Given the description of an element on the screen output the (x, y) to click on. 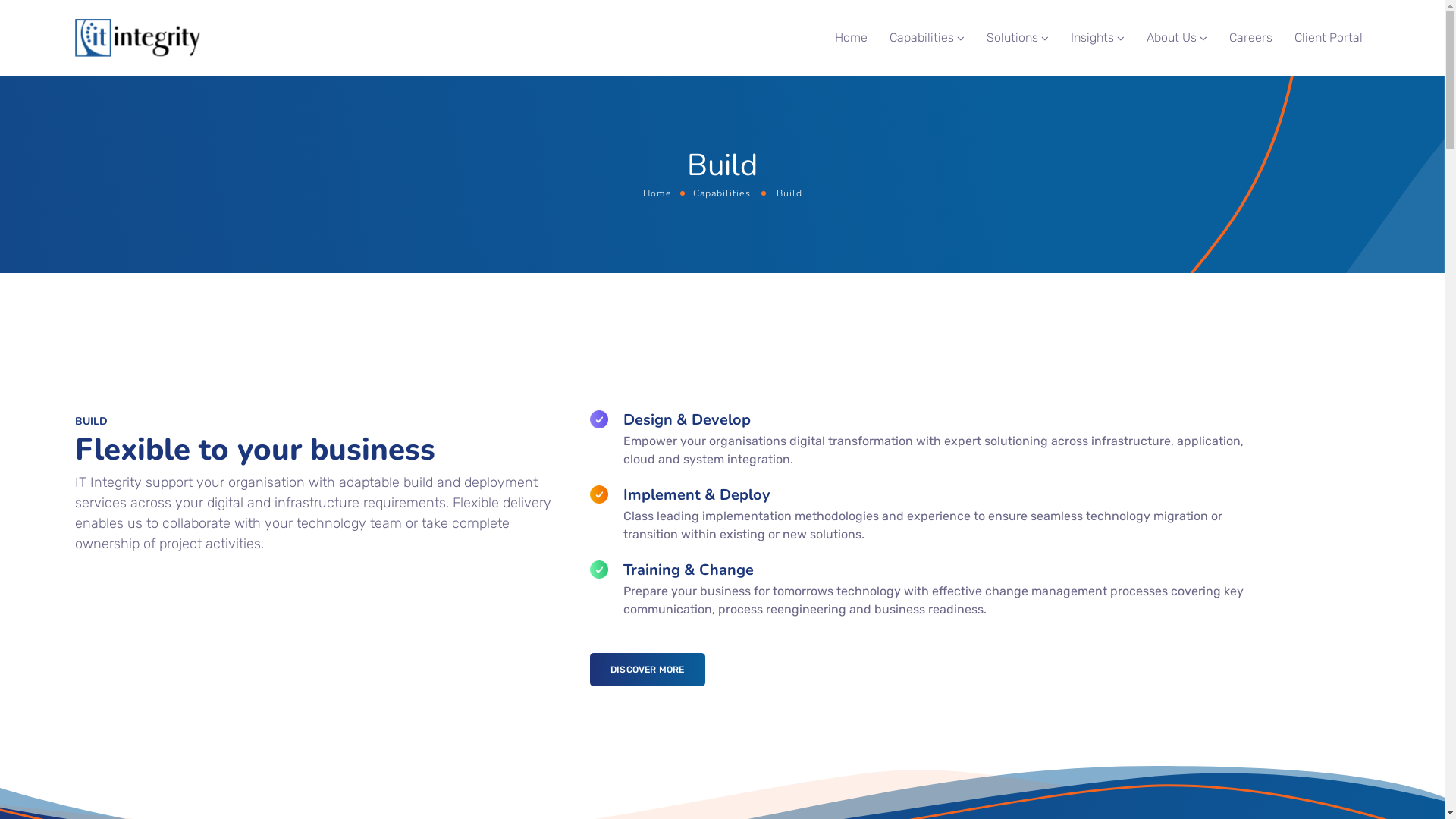
Client Portal Element type: text (1327, 37)
About Us Element type: text (1176, 37)
Implement & Deploy Element type: text (696, 494)
chek_b Element type: hover (598, 419)
DISCOVER MORE Element type: text (647, 669)
Capabilities Element type: text (720, 192)
Solutions Element type: text (1016, 37)
Capabilities Element type: text (925, 37)
chek_g Element type: hover (598, 569)
Home Element type: text (656, 192)
chek_o Element type: hover (598, 494)
IT Integrity Element type: hover (136, 37)
Training & Change Element type: text (688, 569)
Design & Develop Element type: text (686, 419)
Home Element type: text (850, 37)
Insights Element type: text (1097, 37)
Careers Element type: text (1249, 37)
